Given the description of an element on the screen output the (x, y) to click on. 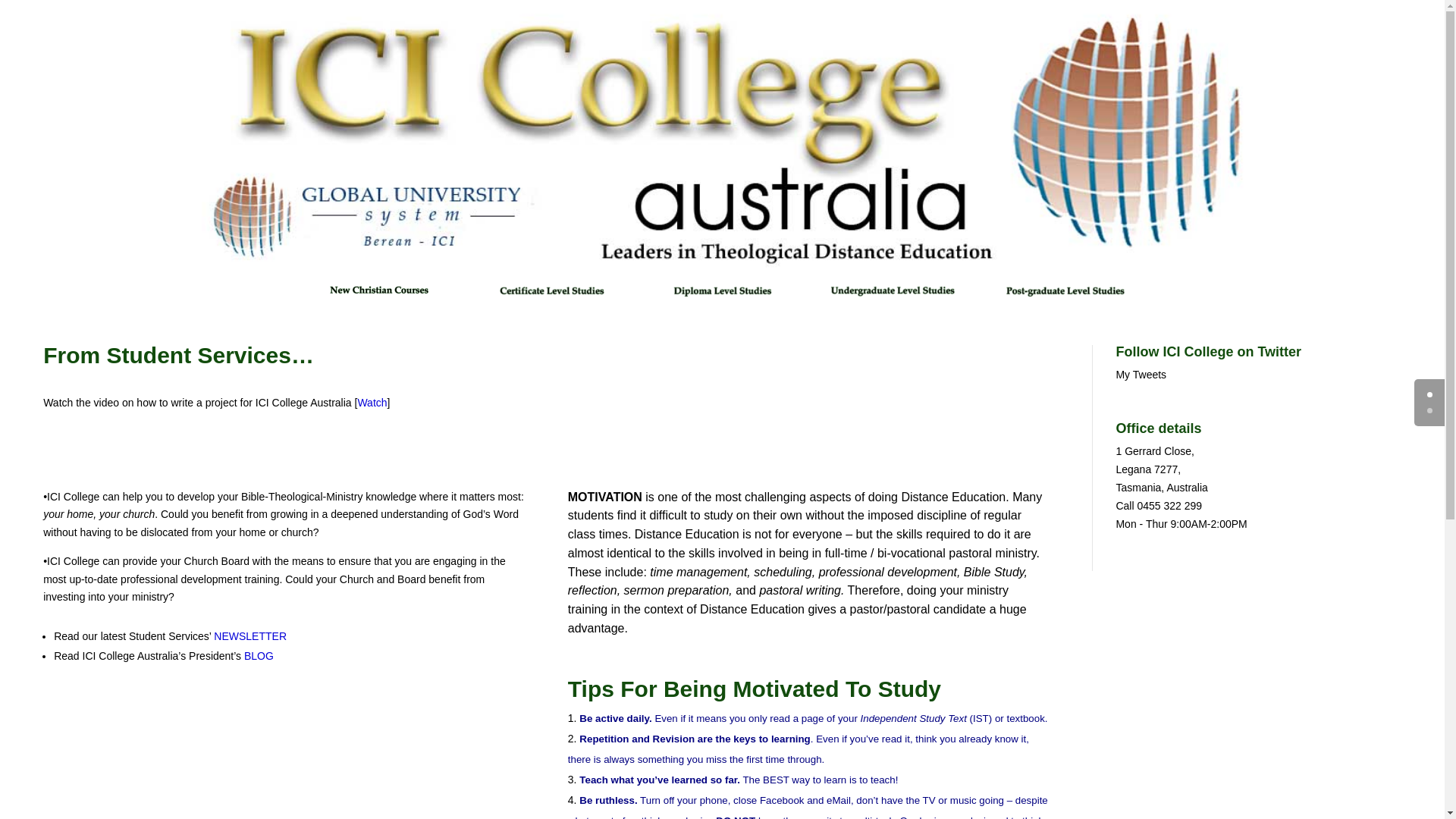
ICI-College-header2020 Element type: hover (722, 139)
My Tweets Element type: text (1140, 374)
1 Gerrard Close,
Legana 7277,
Tasmania, Australia Element type: text (1161, 469)
0 Element type: text (1429, 394)
1 Element type: text (1429, 410)
BLOG Element type: text (258, 655)
Watch Element type: text (371, 402)
NEWSLETTER Element type: text (249, 636)
